Given the description of an element on the screen output the (x, y) to click on. 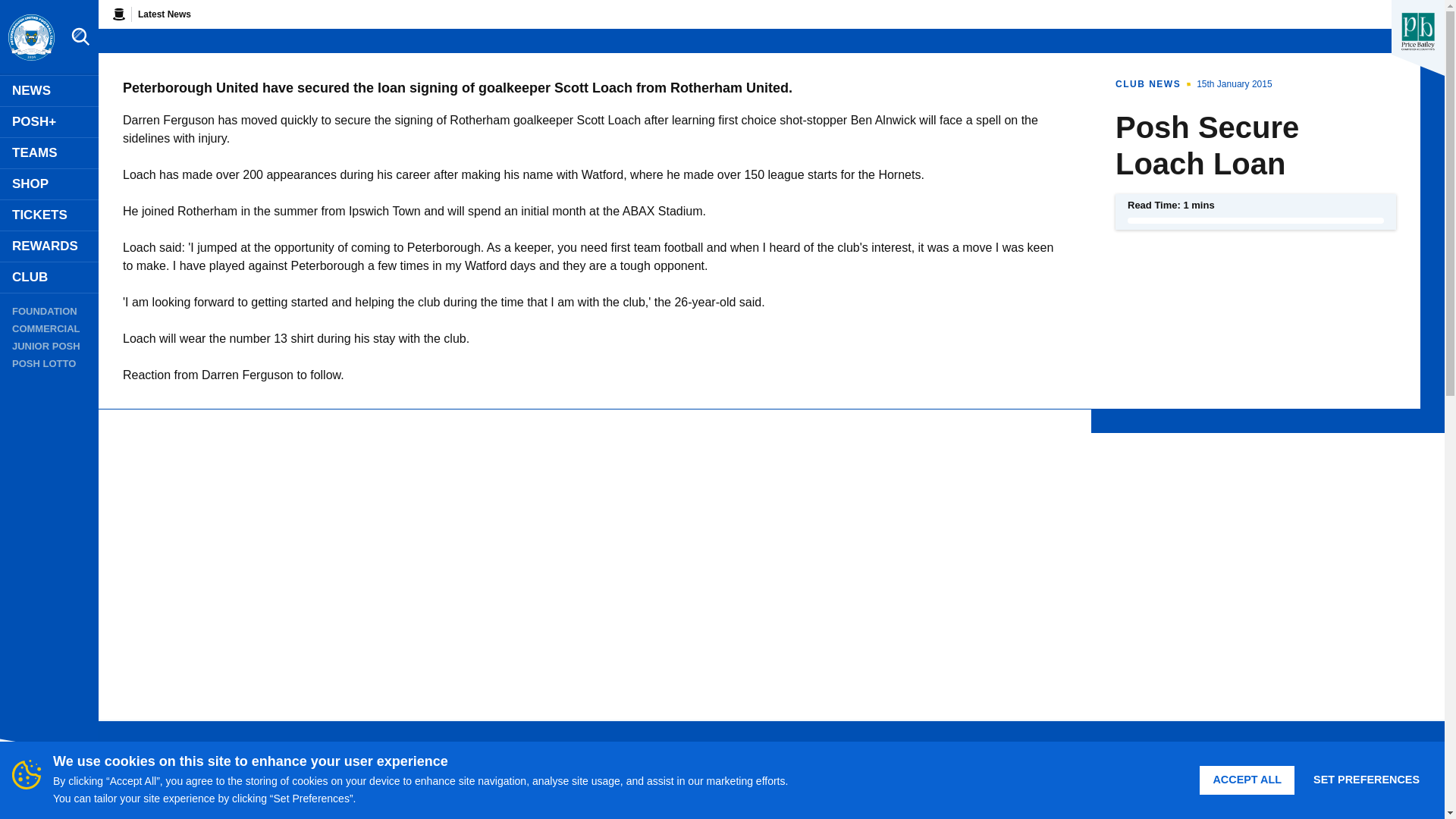
Link to Peterborough United homepage (31, 37)
NEWS (49, 91)
Search (80, 37)
TEAMS (49, 153)
News (49, 91)
Search (80, 36)
